Given the description of an element on the screen output the (x, y) to click on. 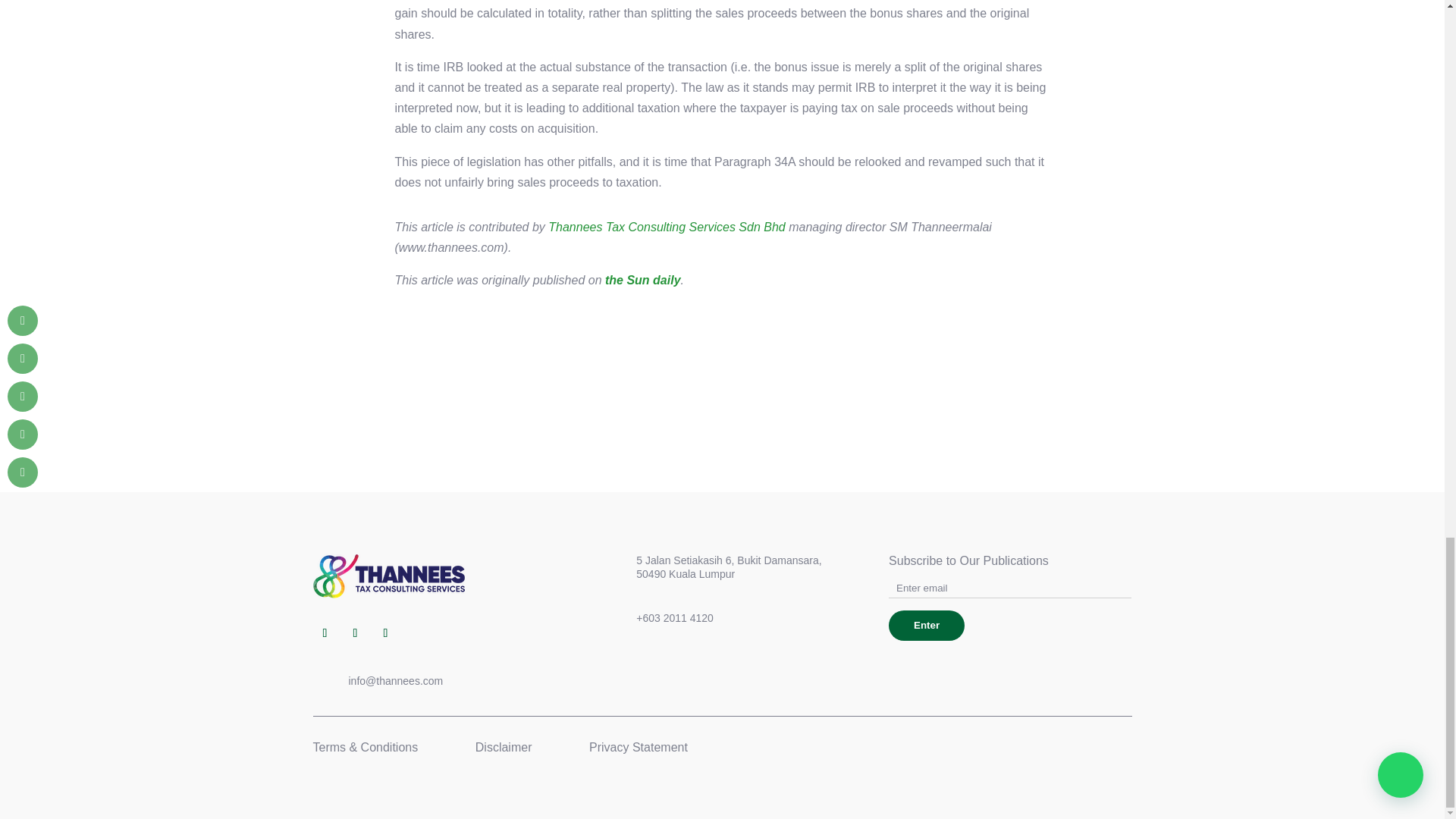
Enter (925, 625)
Follow on Facebook (324, 632)
Thannees Tax Consulting Services Sdn Bhd (666, 226)
Thannees-logo (388, 575)
Follow on Instagram (384, 632)
Follow on LinkedIn (354, 632)
the Sun daily (643, 279)
